Given the description of an element on the screen output the (x, y) to click on. 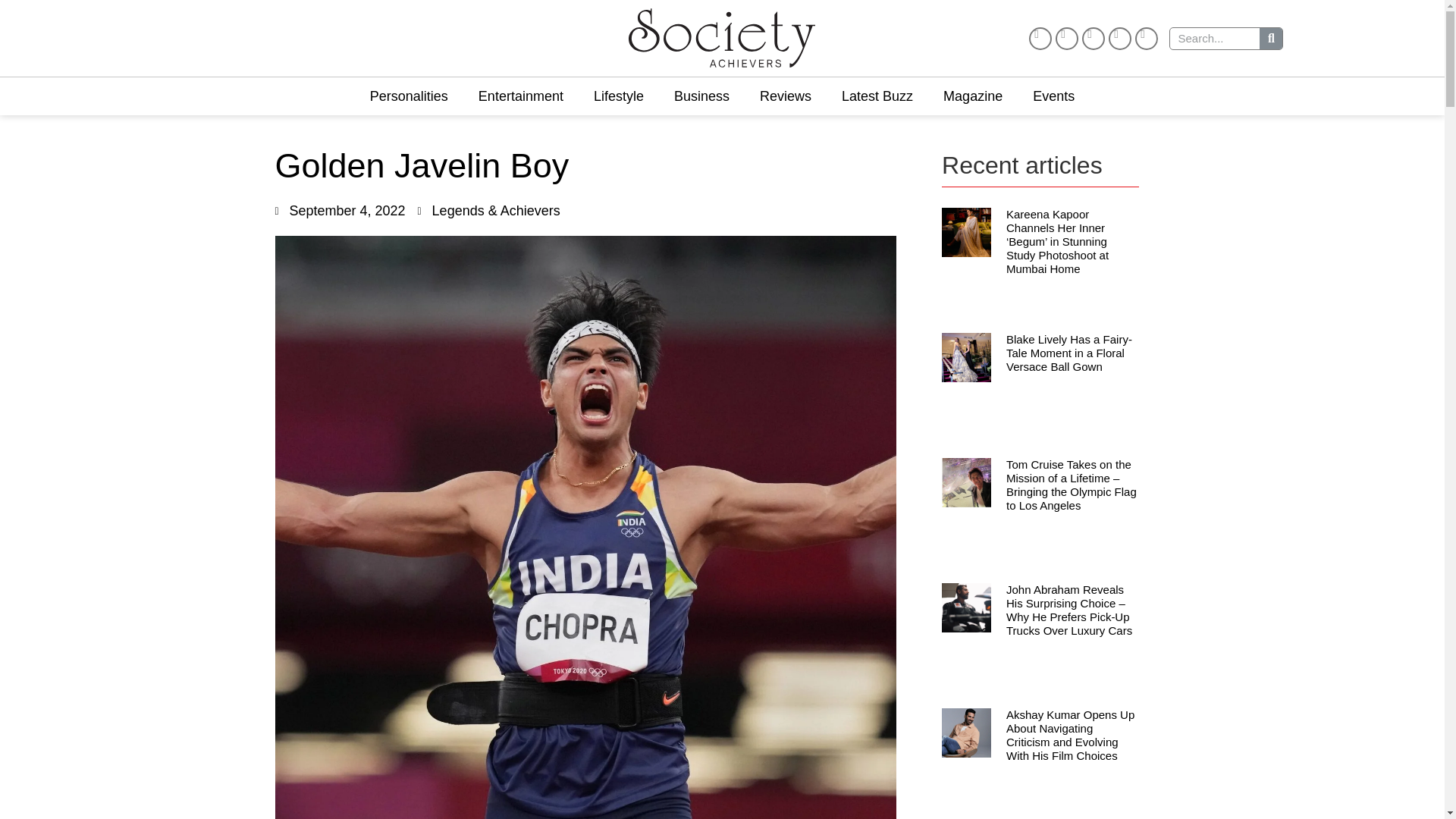
Events (1053, 96)
Search (1214, 38)
Magazine (972, 96)
Latest Buzz (877, 96)
Reviews (785, 96)
Lifestyle (618, 96)
September 4, 2022 (339, 210)
Business (701, 96)
Entertainment (520, 96)
Personalities (409, 96)
